Given the description of an element on the screen output the (x, y) to click on. 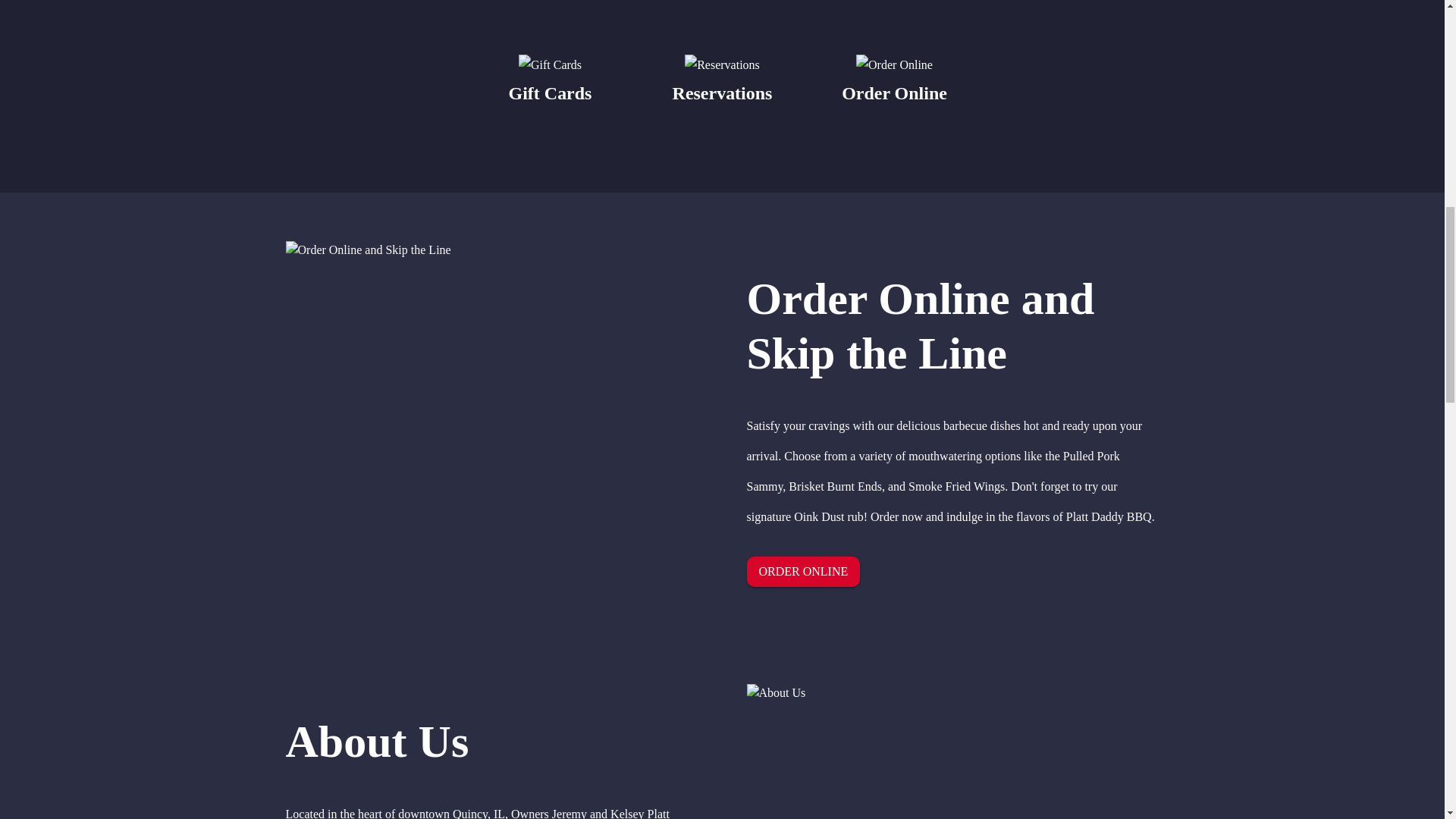
Order Online (893, 96)
Reservations (721, 96)
ORDER ONLINE (802, 571)
Gift Cards (549, 96)
